Given the description of an element on the screen output the (x, y) to click on. 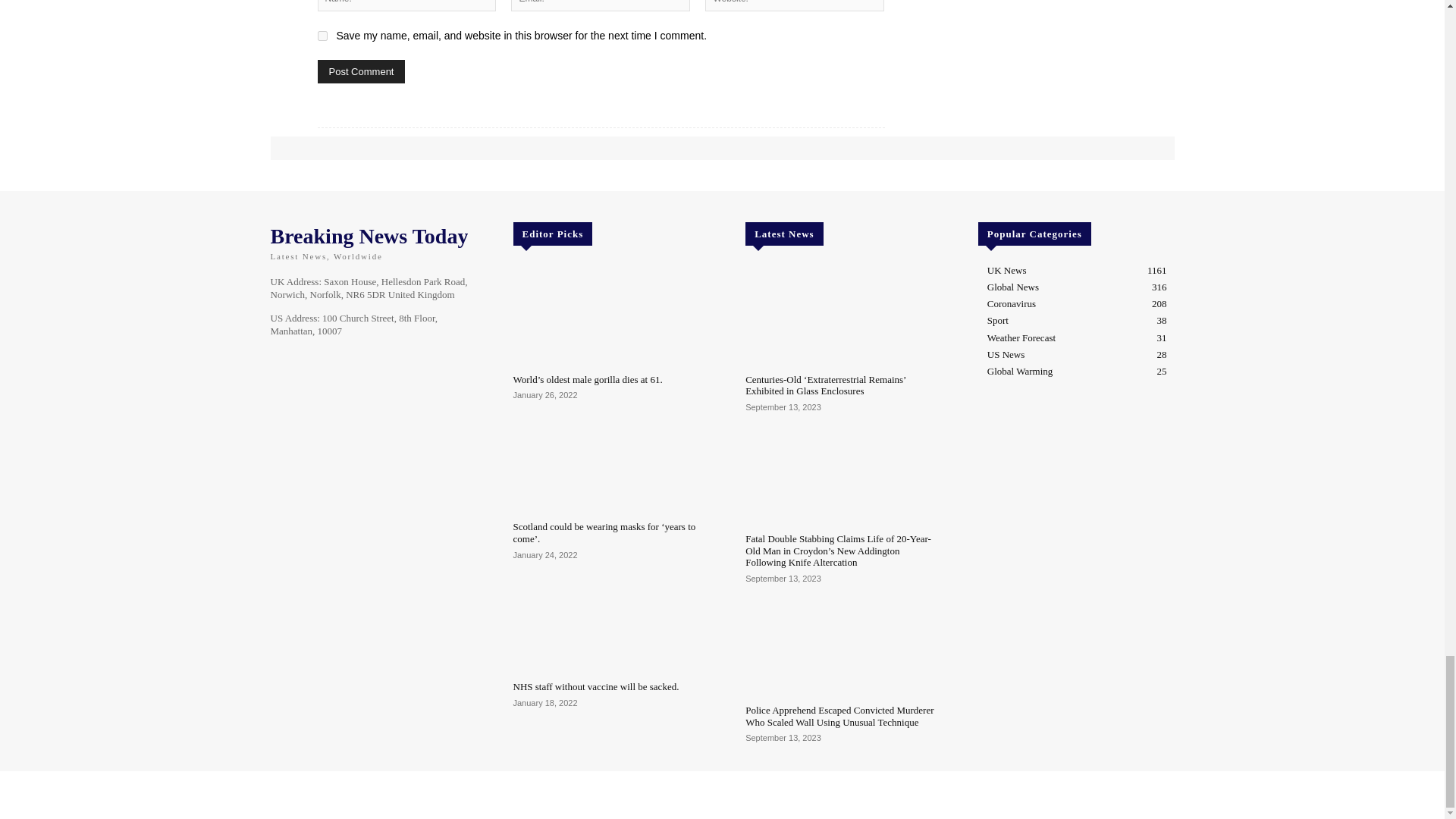
yes (321, 35)
Post Comment (360, 71)
